Given the description of an element on the screen output the (x, y) to click on. 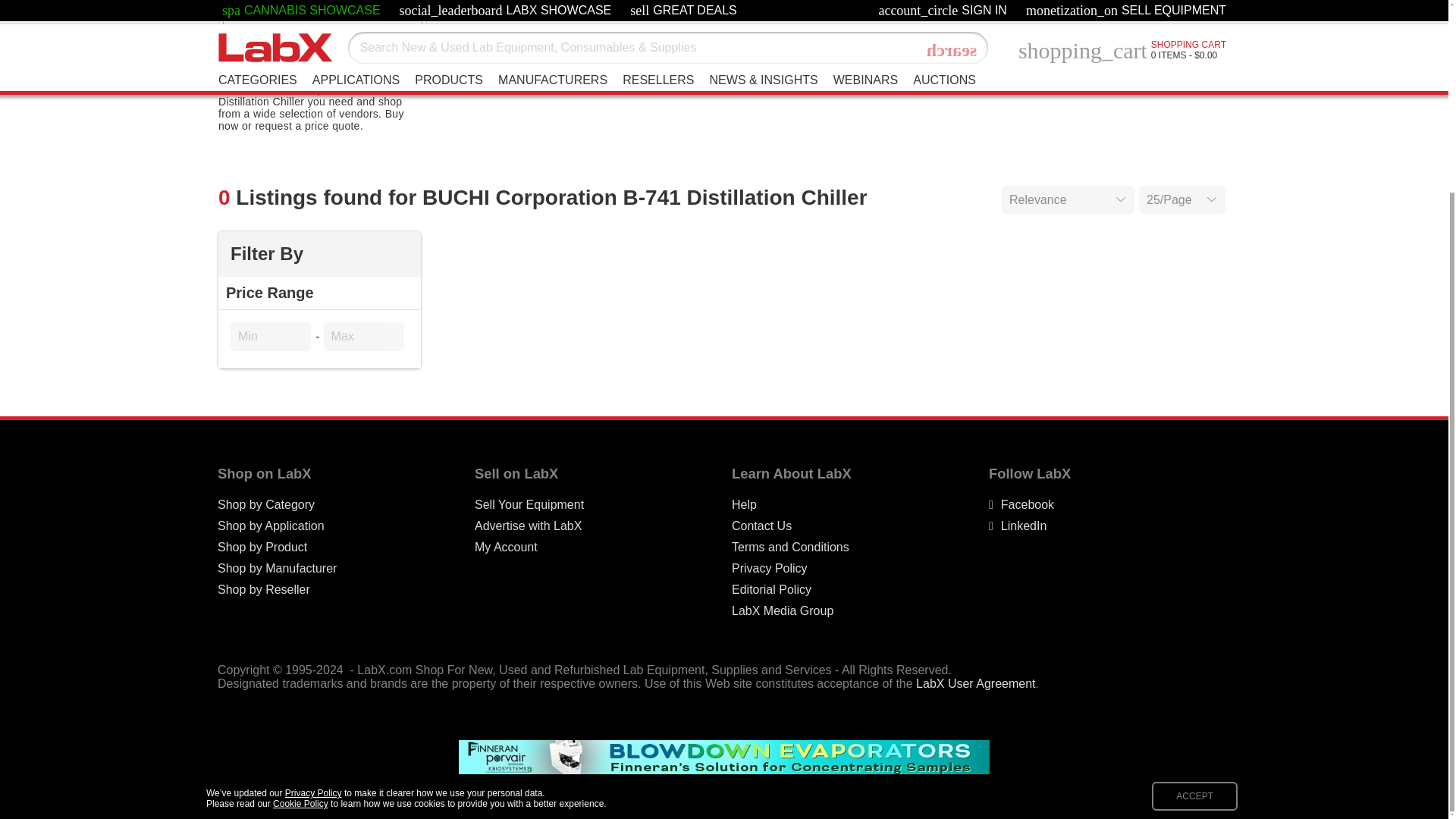
Shop by Category (265, 504)
Help (744, 504)
Contact Us (762, 526)
Sell Your Equipment (528, 504)
Shop by Product (261, 547)
Privacy Policy (770, 568)
Editorial Policy (771, 590)
Shop by Application (270, 526)
Terms and Conditions (790, 547)
Shop by Reseller (263, 590)
